Given the description of an element on the screen output the (x, y) to click on. 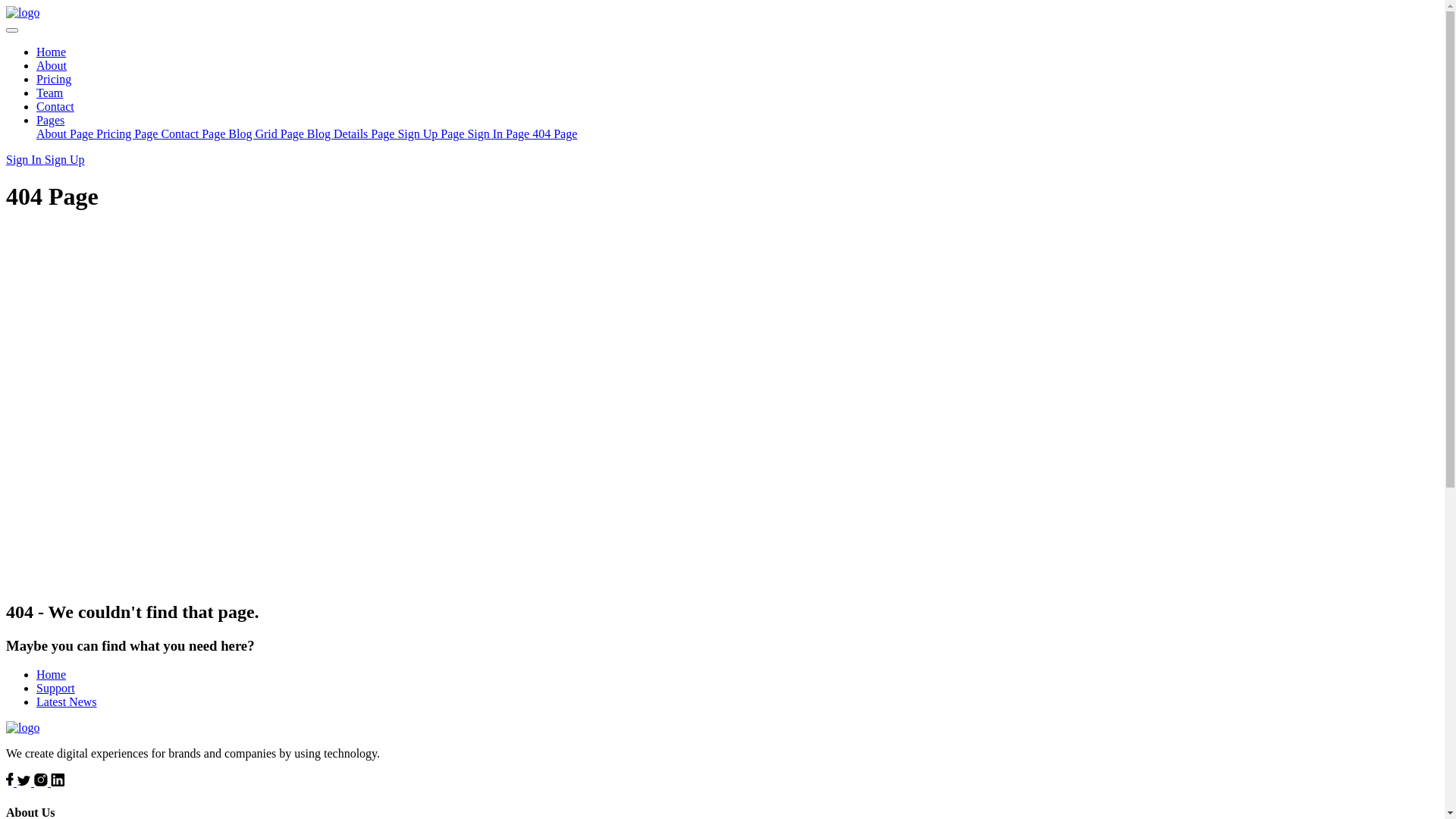
Home Element type: text (50, 674)
Latest News Element type: text (66, 701)
Home Element type: text (50, 51)
Sign In Element type: text (25, 159)
Contact Page Element type: text (194, 133)
Support Element type: text (55, 687)
Sign In Page Element type: text (499, 133)
Sign Up Element type: text (64, 159)
Team Element type: text (49, 92)
Blog Grid Page Element type: text (267, 133)
About Element type: text (51, 65)
404 Page Element type: text (554, 133)
Blog Details Page Element type: text (352, 133)
About Page Element type: text (66, 133)
Pages Element type: text (50, 119)
Pricing Element type: text (53, 78)
Contact Element type: text (55, 106)
Pricing Page Element type: text (128, 133)
Sign Up Page Element type: text (432, 133)
